Given the description of an element on the screen output the (x, y) to click on. 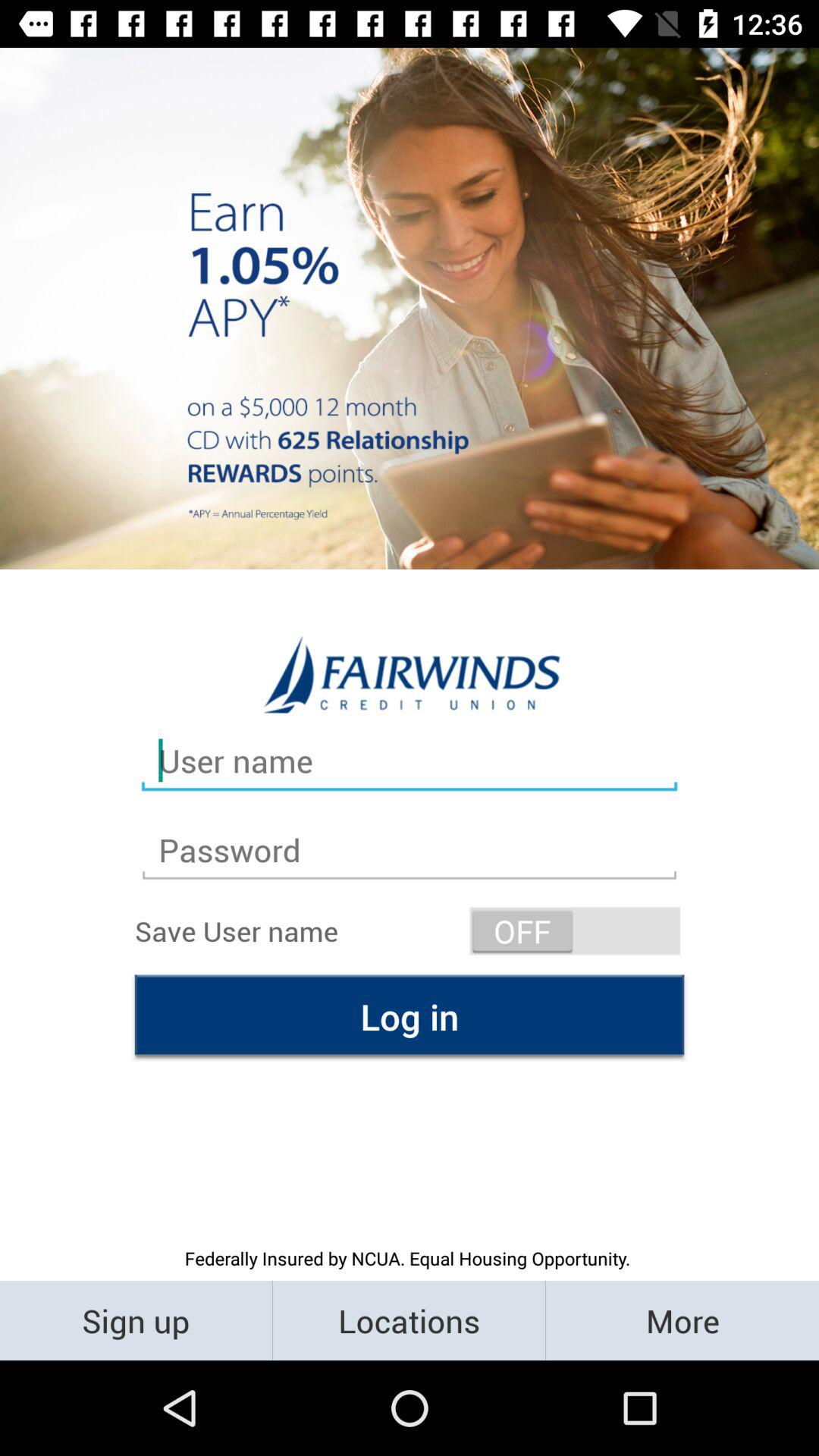
turn on the item to the right of locations item (682, 1320)
